Given the description of an element on the screen output the (x, y) to click on. 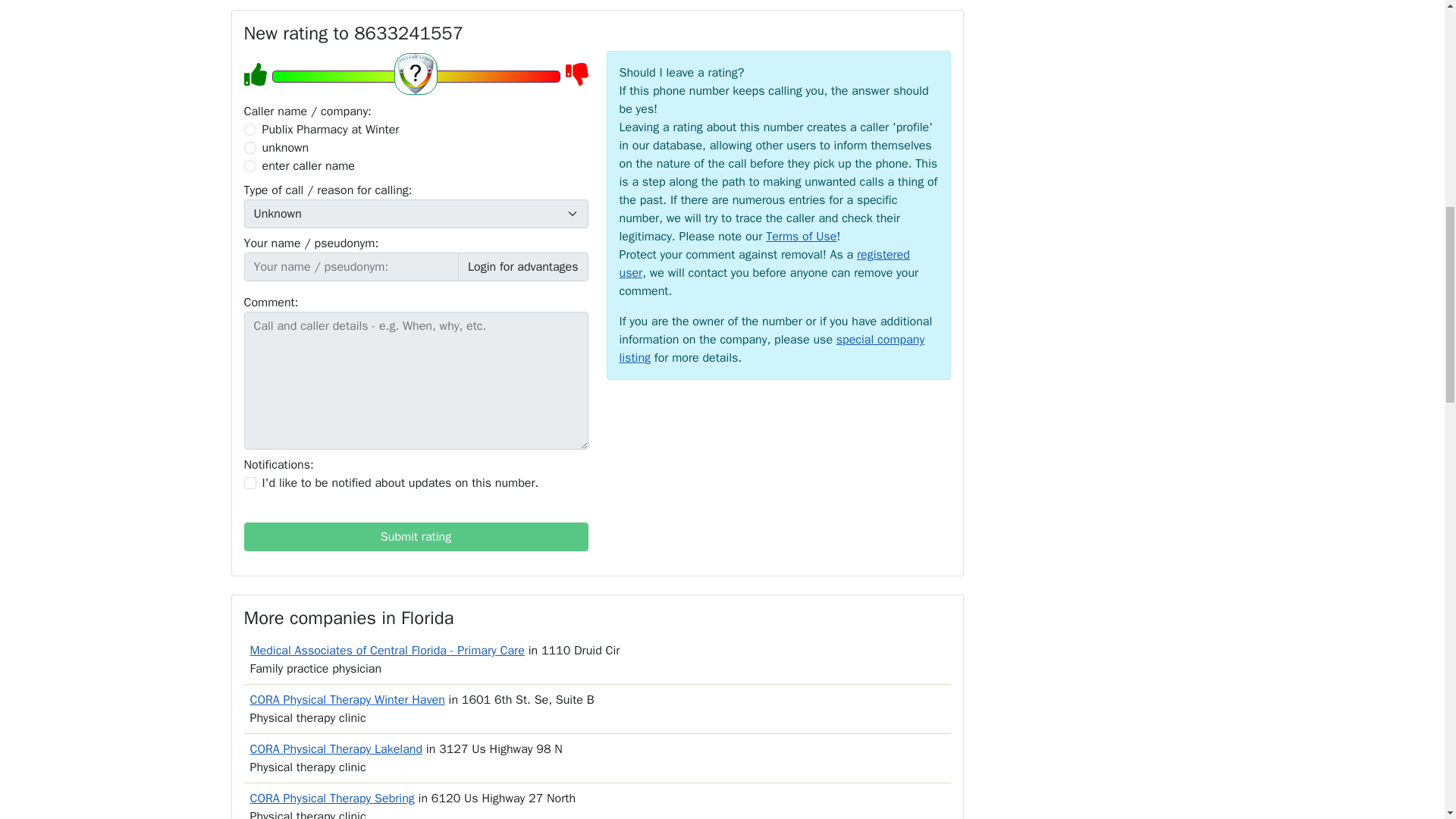
Submit rating (416, 536)
Terms of Use (800, 236)
1 (250, 482)
CORA Physical Therapy Lakeland (336, 749)
5 (414, 76)
Submit rating (416, 536)
registered user (763, 263)
3 (250, 165)
Medical Associates of Central Florida - Primary Care (387, 650)
CORA Physical Therapy Sebring (332, 798)
0 (250, 129)
2 (250, 147)
Login for advantages (523, 266)
CORA Physical Therapy Winter Haven (347, 699)
